Given the description of an element on the screen output the (x, y) to click on. 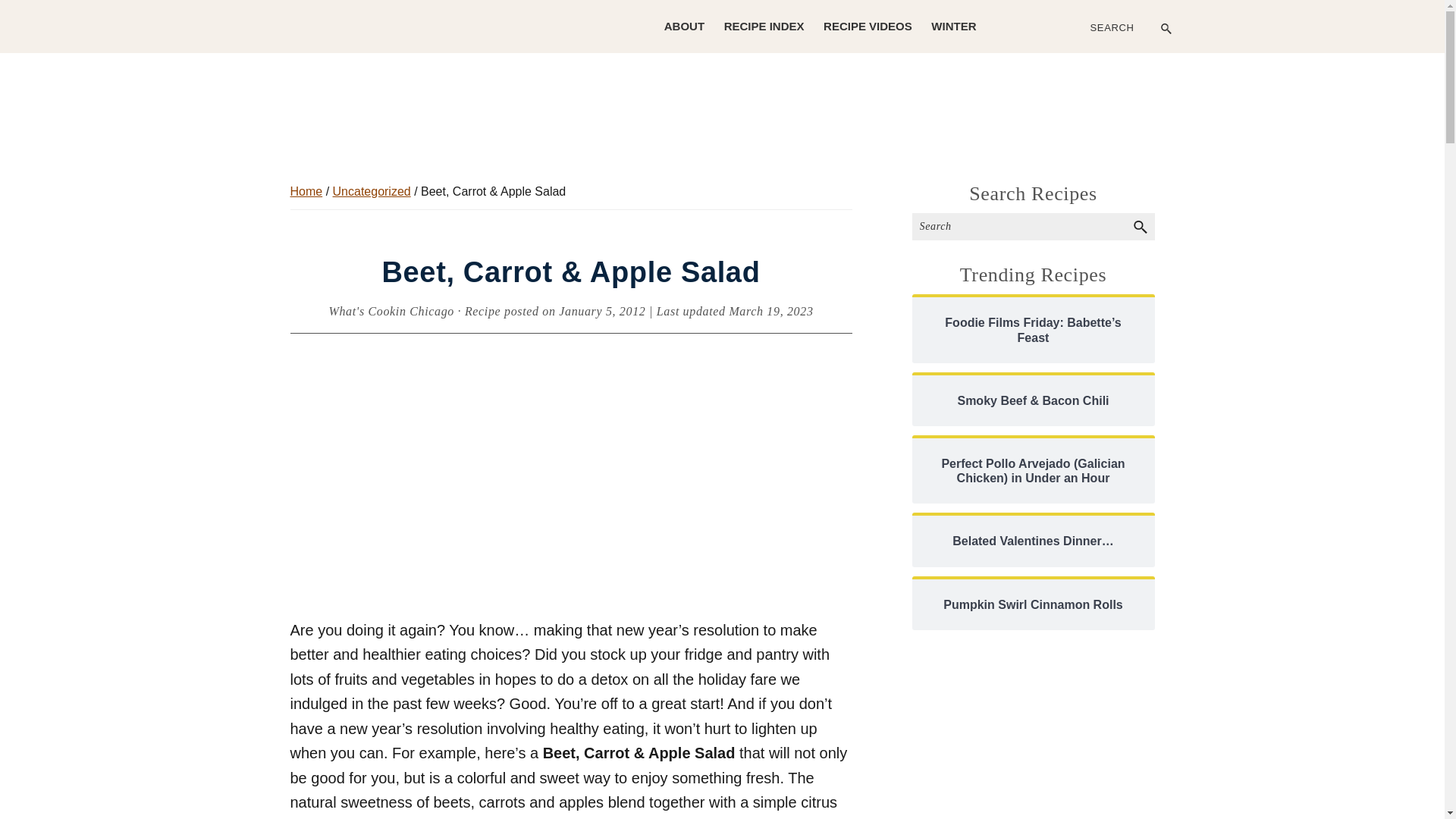
ABOUT (683, 25)
RECIPE VIDEOS (867, 25)
RSS (41, 427)
Facebook (41, 468)
Uncategorized (371, 191)
WINTER (953, 25)
Twitter (41, 510)
Home (305, 191)
RECIPE INDEX (764, 25)
YouTube (41, 552)
